Given the description of an element on the screen output the (x, y) to click on. 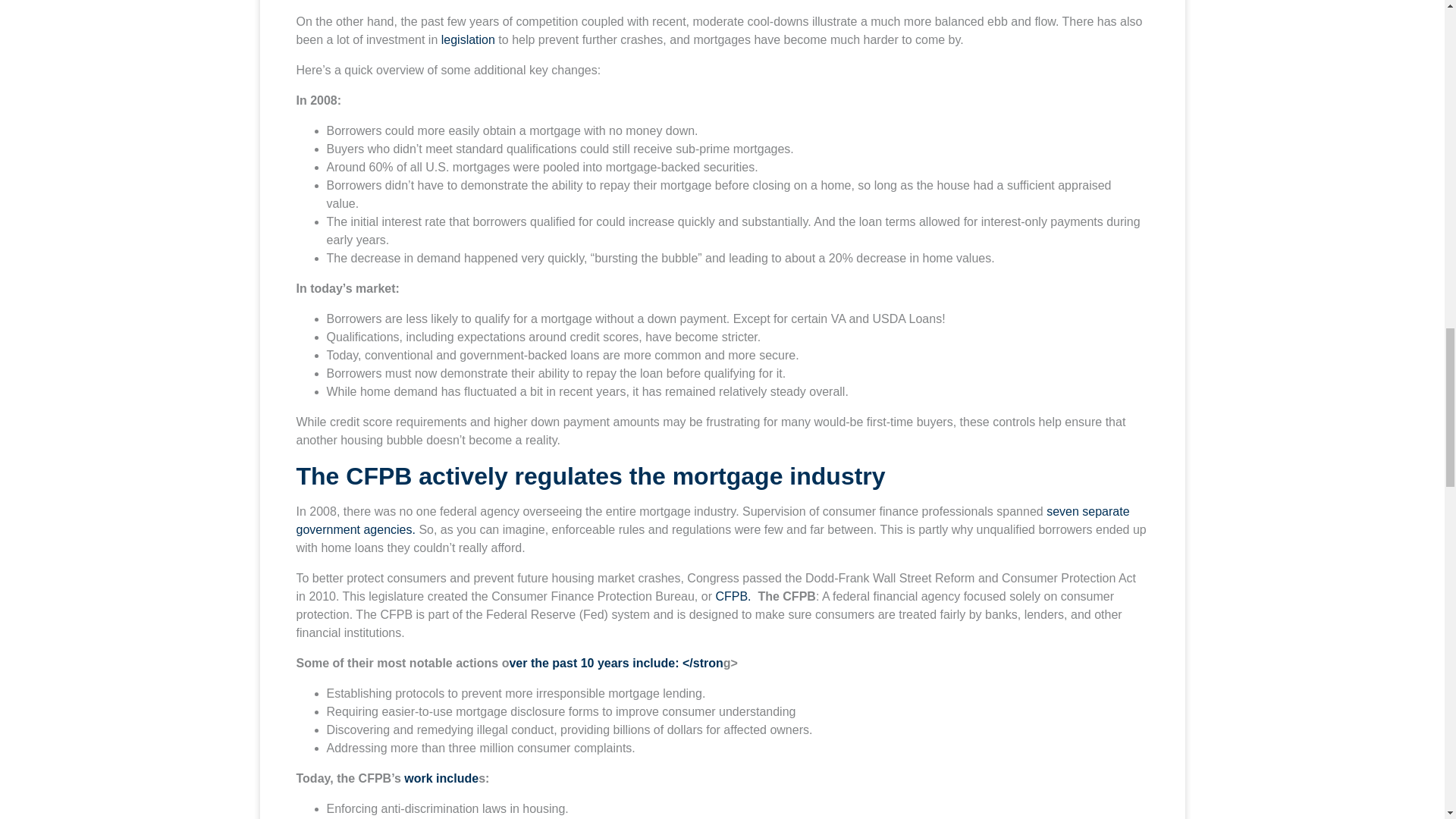
legislation (470, 39)
seven separate government agencies. (712, 520)
CFPB. (732, 595)
work include (441, 778)
